Given the description of an element on the screen output the (x, y) to click on. 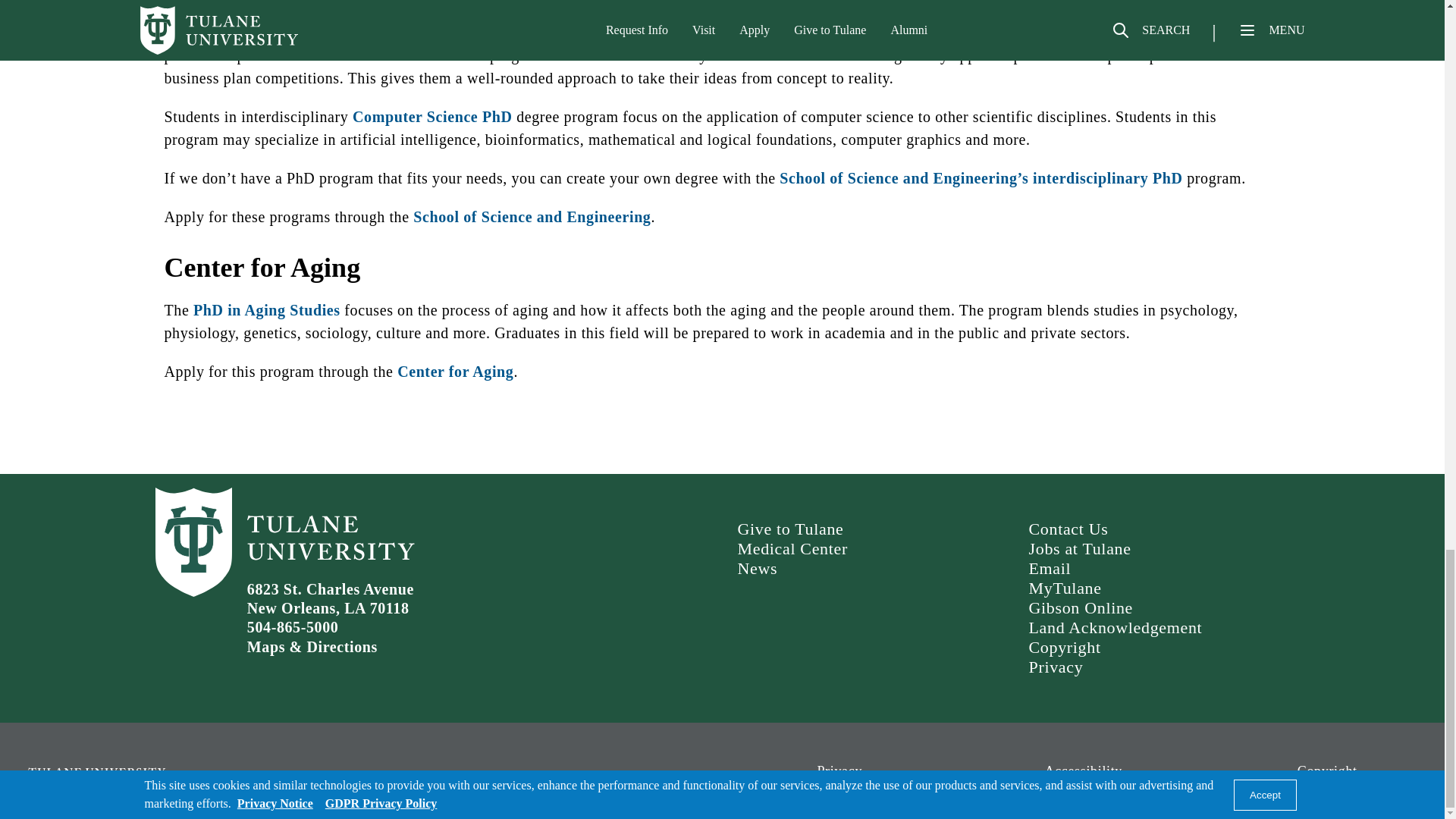
Home (189, 778)
